Given the description of an element on the screen output the (x, y) to click on. 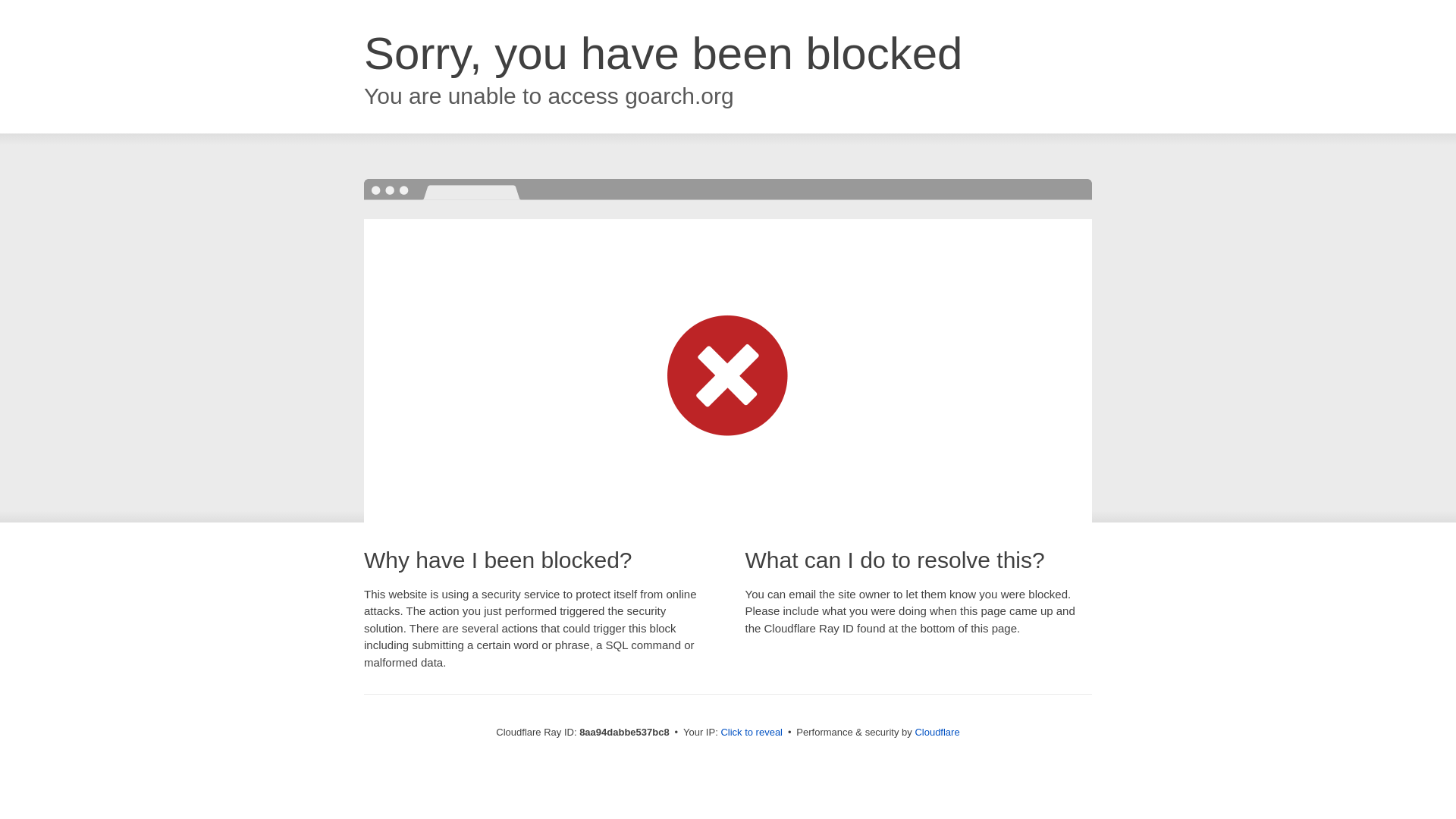
Cloudflare (936, 731)
Click to reveal (751, 732)
